Given the description of an element on the screen output the (x, y) to click on. 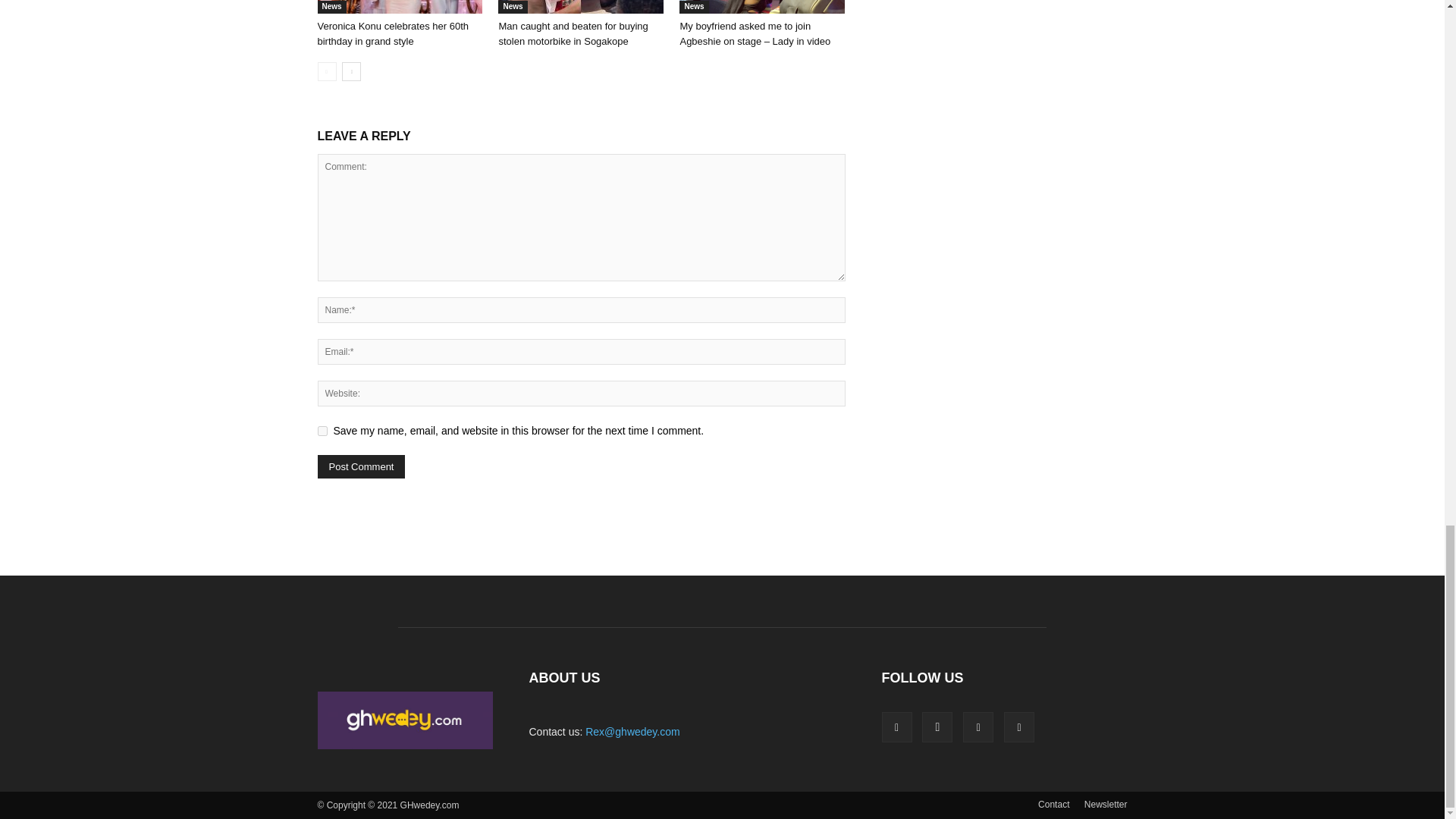
Post Comment (360, 466)
Veronica Konu celebrates her 60th birthday in grand style (399, 6)
yes (321, 430)
